Given the description of an element on the screen output the (x, y) to click on. 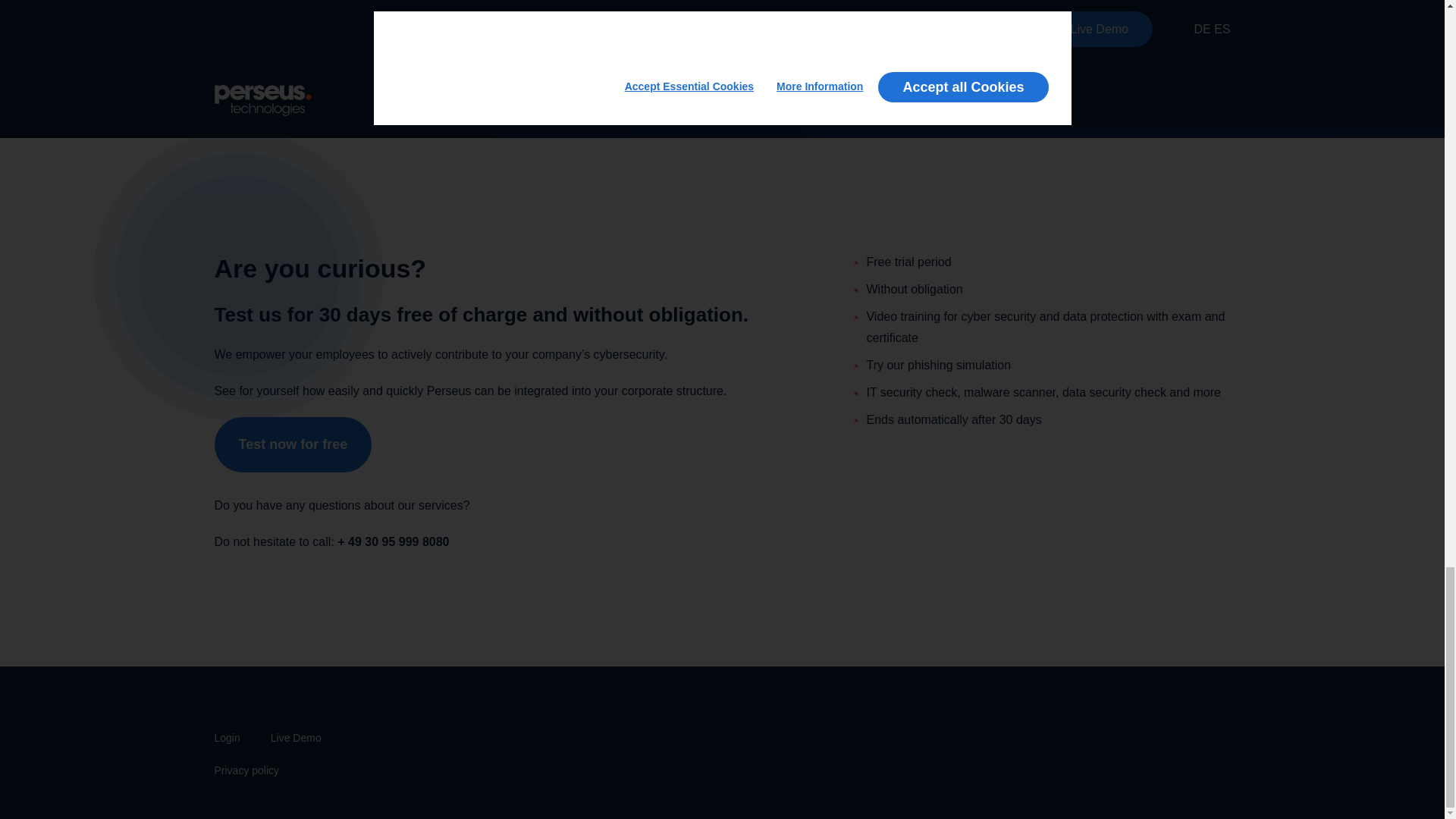
Live Demo (295, 737)
Login (227, 737)
Privacy policy (246, 770)
Test now for free (292, 444)
